Given the description of an element on the screen output the (x, y) to click on. 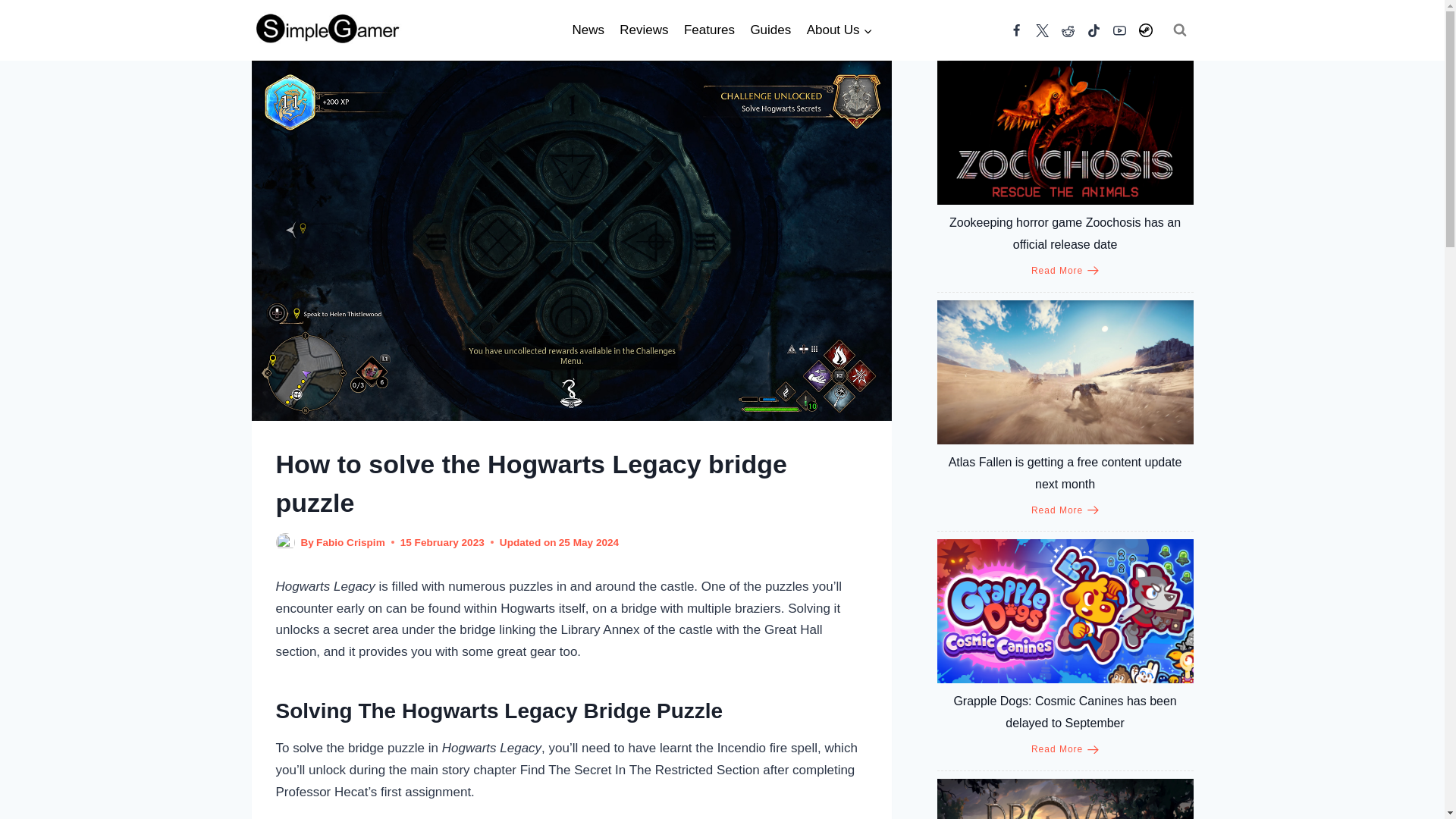
News (587, 29)
About Us (838, 29)
Guides (769, 29)
Reviews (644, 29)
Features (709, 29)
Fabio Crispim (350, 542)
